Given the description of an element on the screen output the (x, y) to click on. 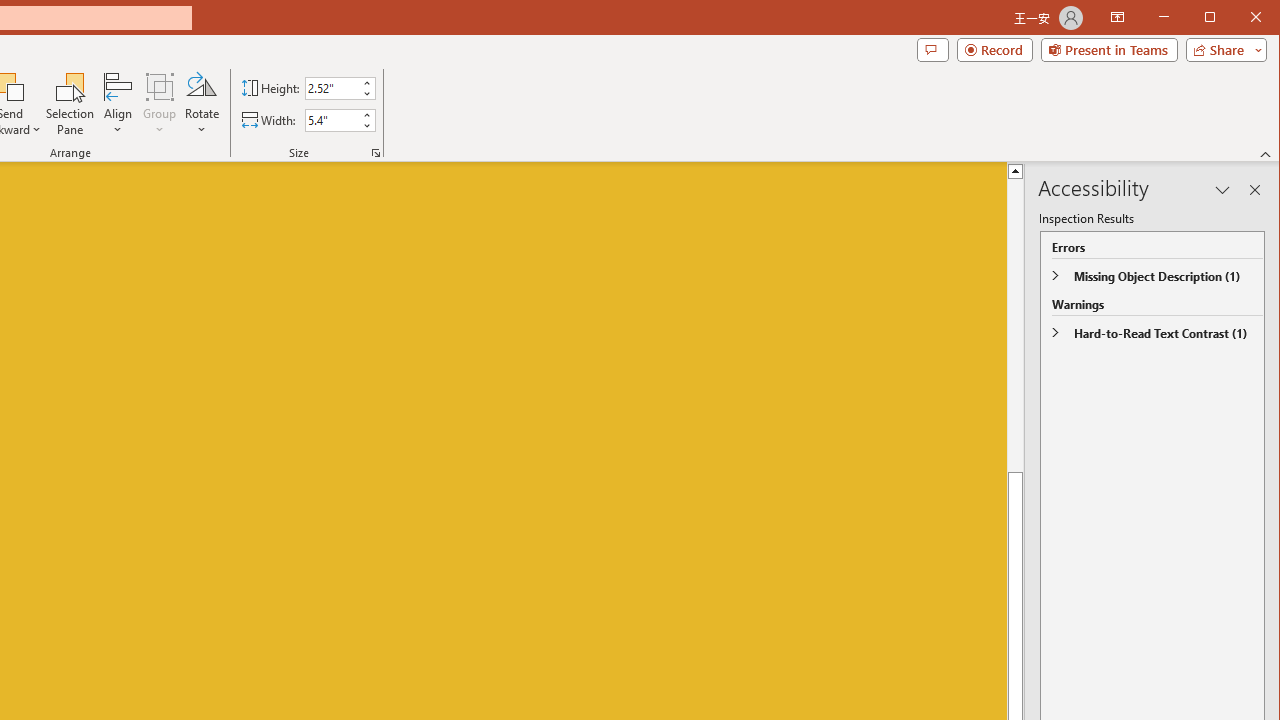
Selection Pane... (70, 104)
Size and Position... (376, 152)
Shape Height (331, 88)
Shape Width (331, 120)
Group (159, 104)
Rotate (201, 104)
